Given the description of an element on the screen output the (x, y) to click on. 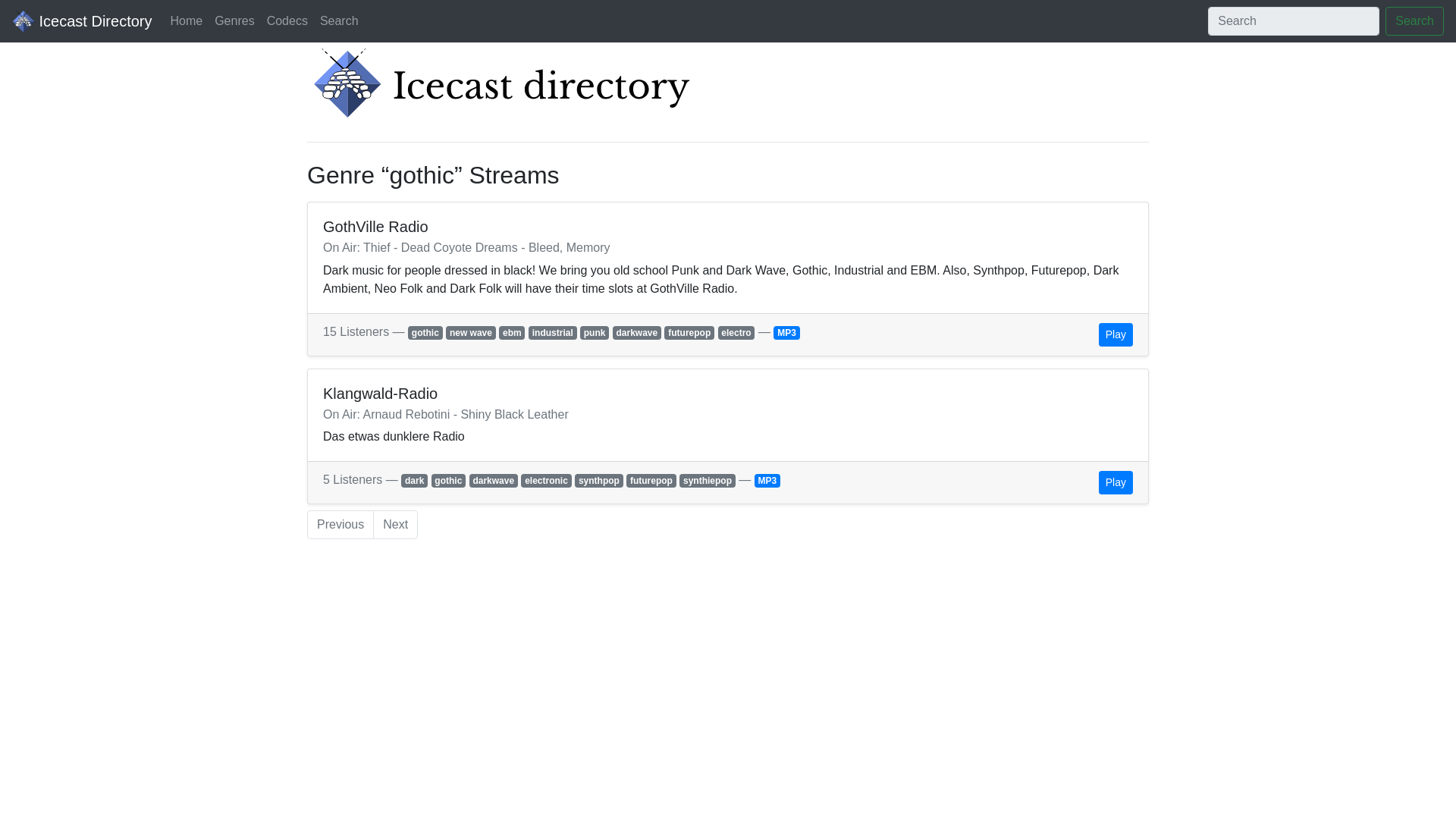
Search (339, 20)
Play (1115, 482)
new wave (470, 332)
MP3 (786, 332)
electro (735, 332)
Play (1115, 334)
electronic (545, 480)
Home (185, 20)
Genres (234, 20)
punk (593, 332)
darkwave (493, 480)
darkwave (636, 332)
Search (1415, 21)
Icecast Directory (81, 20)
dark (414, 480)
